Given the description of an element on the screen output the (x, y) to click on. 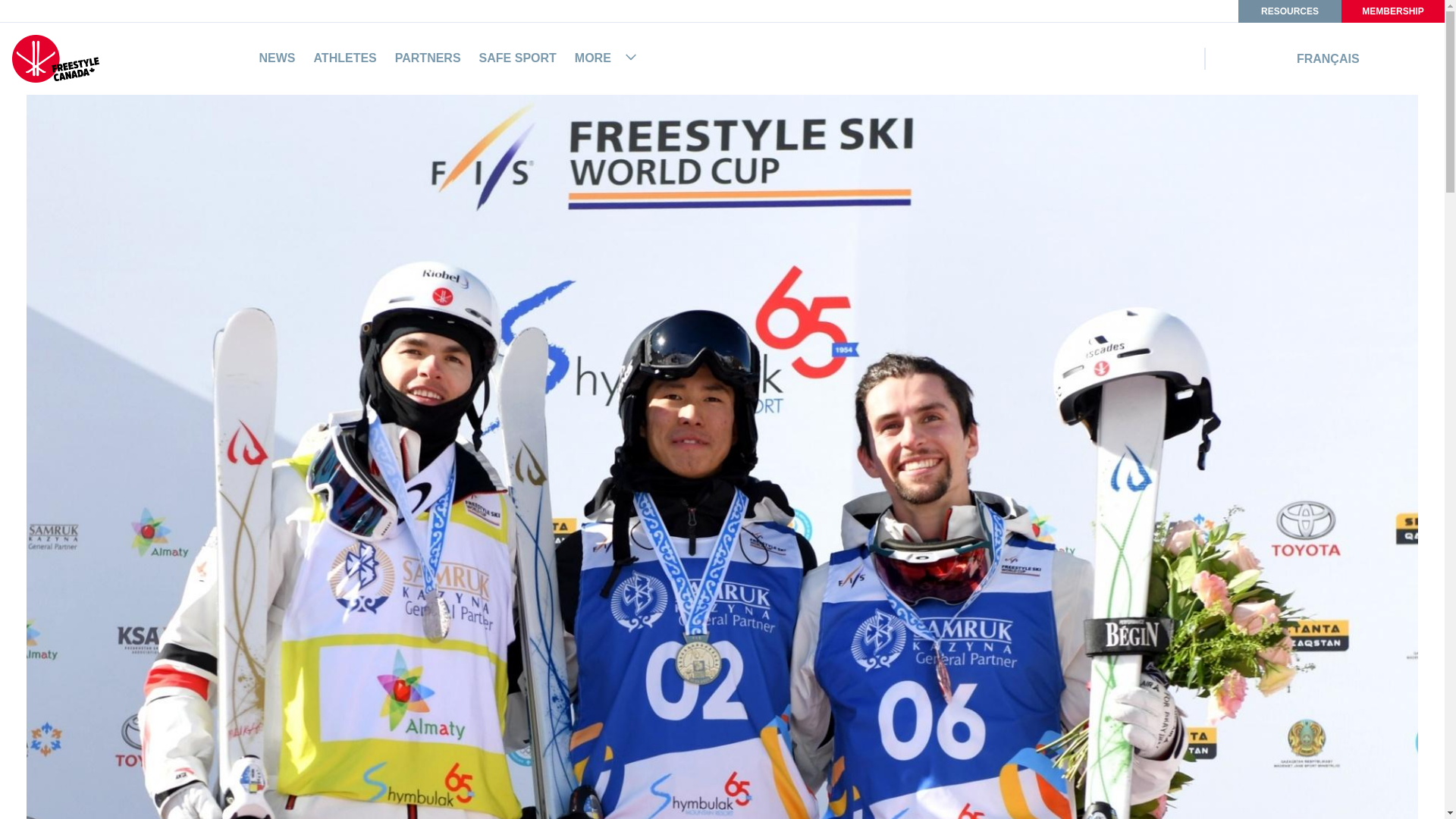
ATHLETES (345, 57)
PARTNERS (427, 57)
MORE (607, 58)
RESOURCES (1289, 11)
NEWS (277, 57)
SAFE SPORT (517, 57)
